Given the description of an element on the screen output the (x, y) to click on. 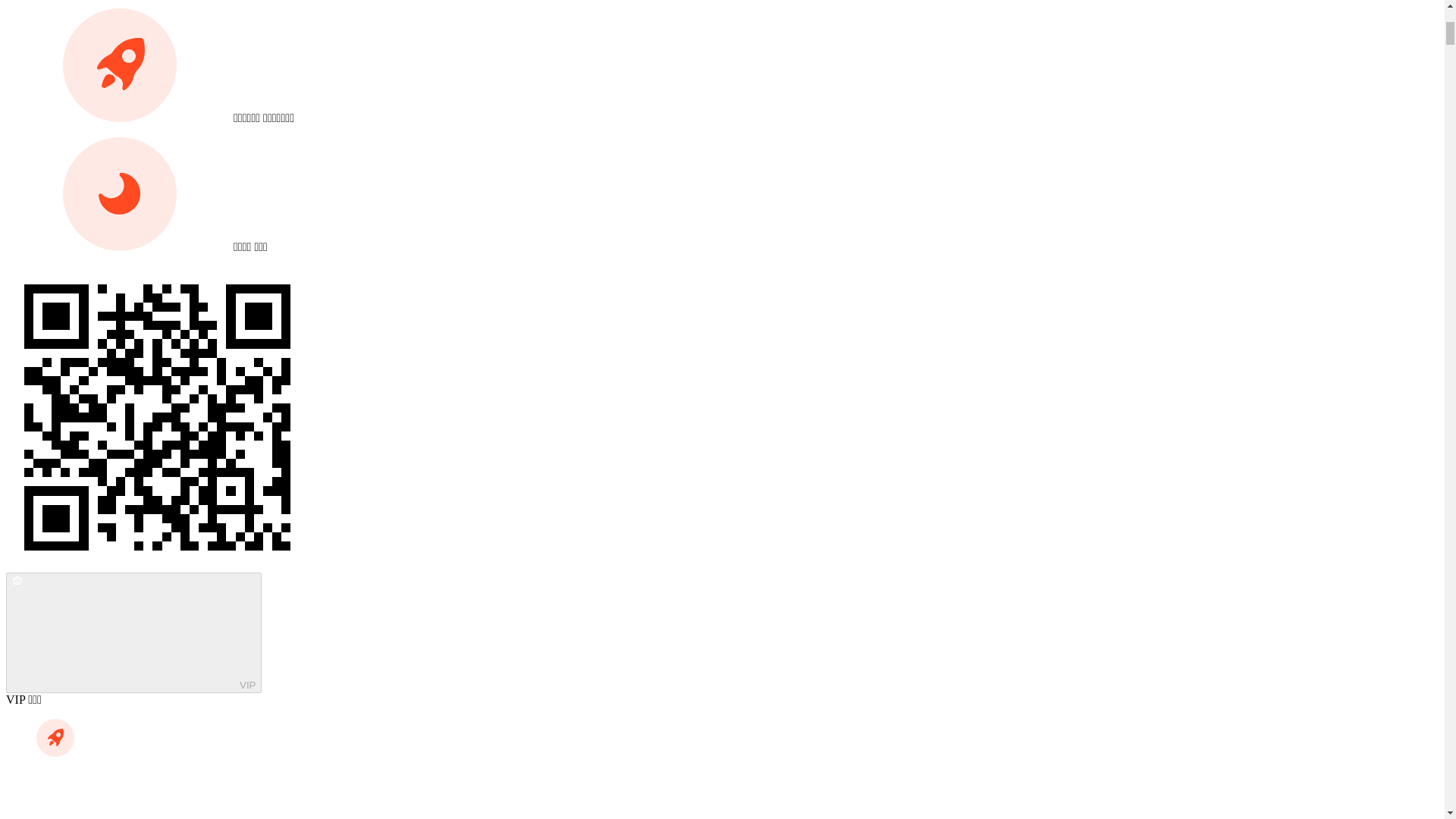
VIP (133, 632)
